Given the description of an element on the screen output the (x, y) to click on. 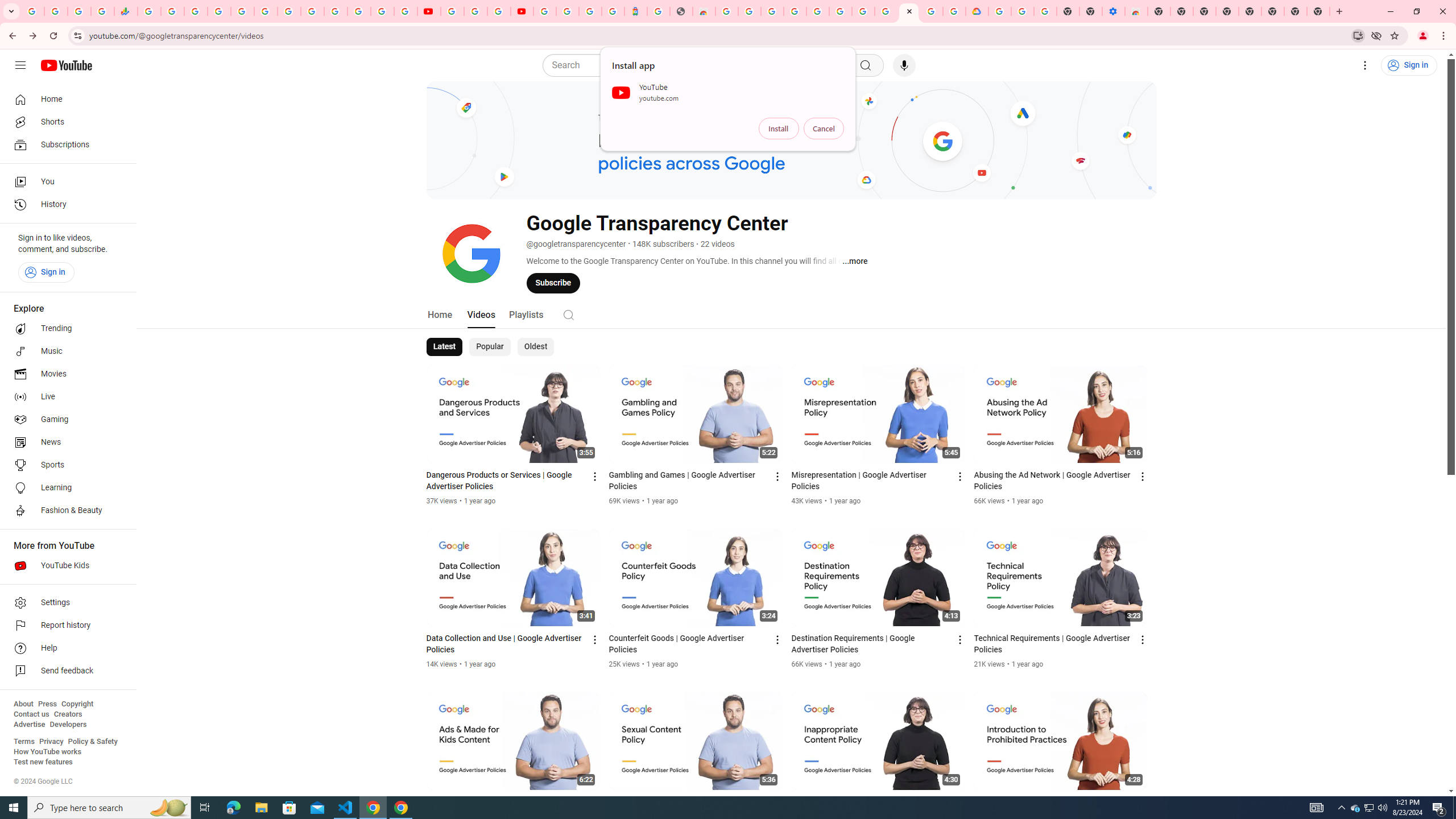
YouTube Kids (64, 565)
Privacy Checkup (405, 11)
Press (46, 703)
Google Account Help (1022, 11)
Create your Google Account (498, 11)
Sign in - Google Accounts (567, 11)
Sign in - Google Accounts (218, 11)
Create your Google Account (749, 11)
Content Creator Programs & Opportunities - YouTube Creators (521, 11)
